Given the description of an element on the screen output the (x, y) to click on. 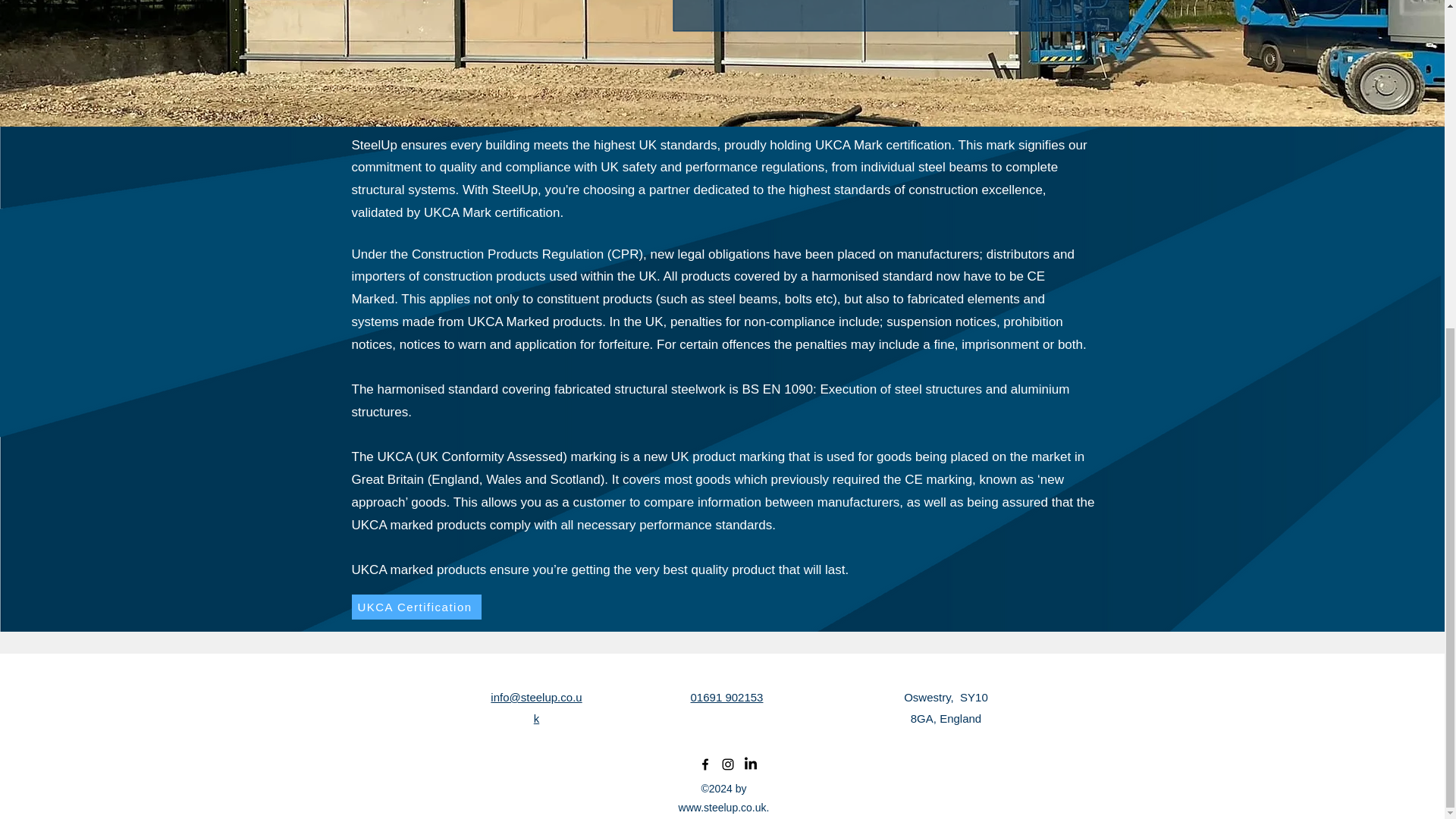
01691 902153 (726, 697)
UKCA Certification (416, 606)
www.steelup.co.uk (722, 807)
